Given the description of an element on the screen output the (x, y) to click on. 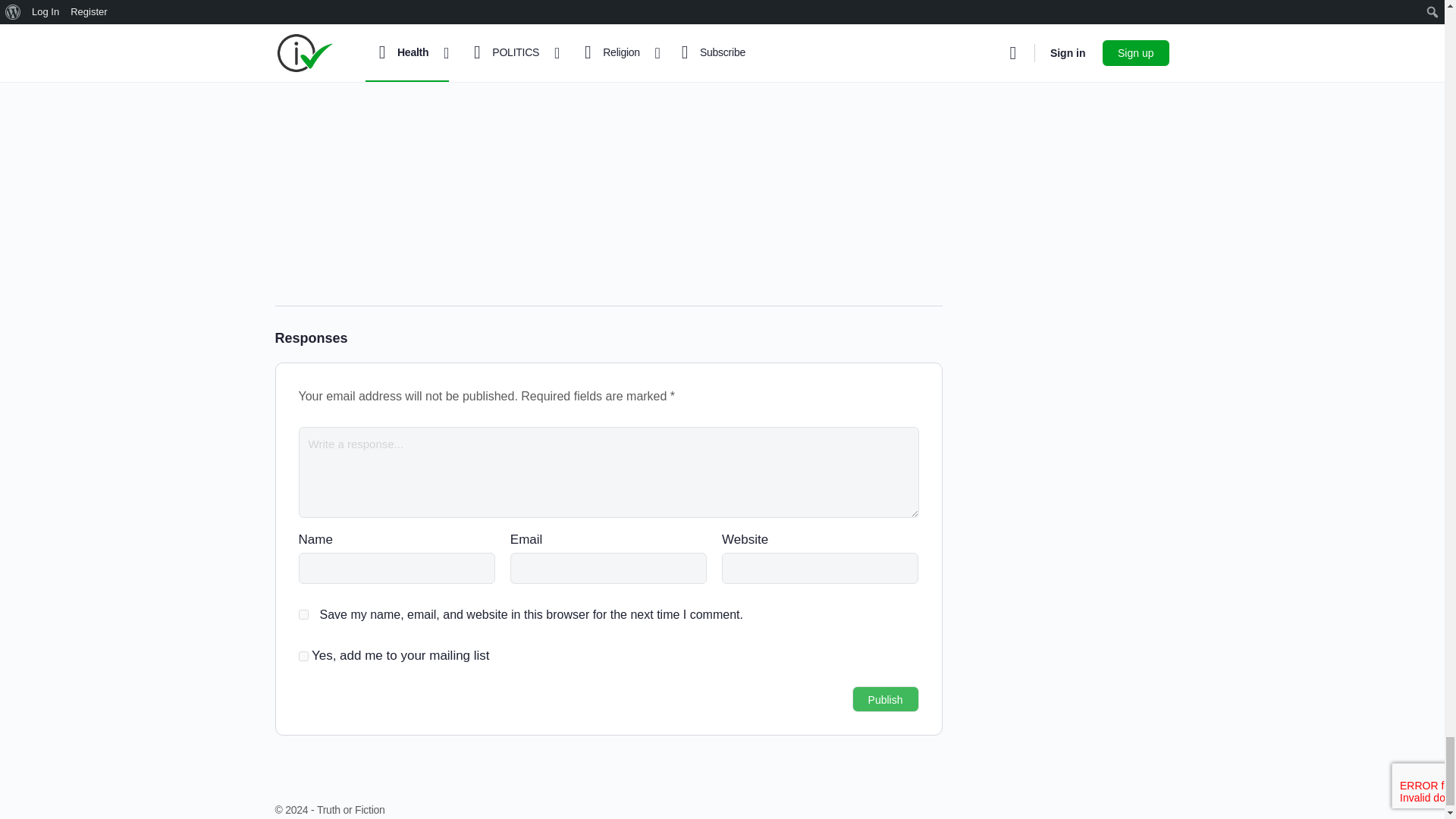
Publish (884, 698)
1 (303, 655)
yes (303, 614)
